Given the description of an element on the screen output the (x, y) to click on. 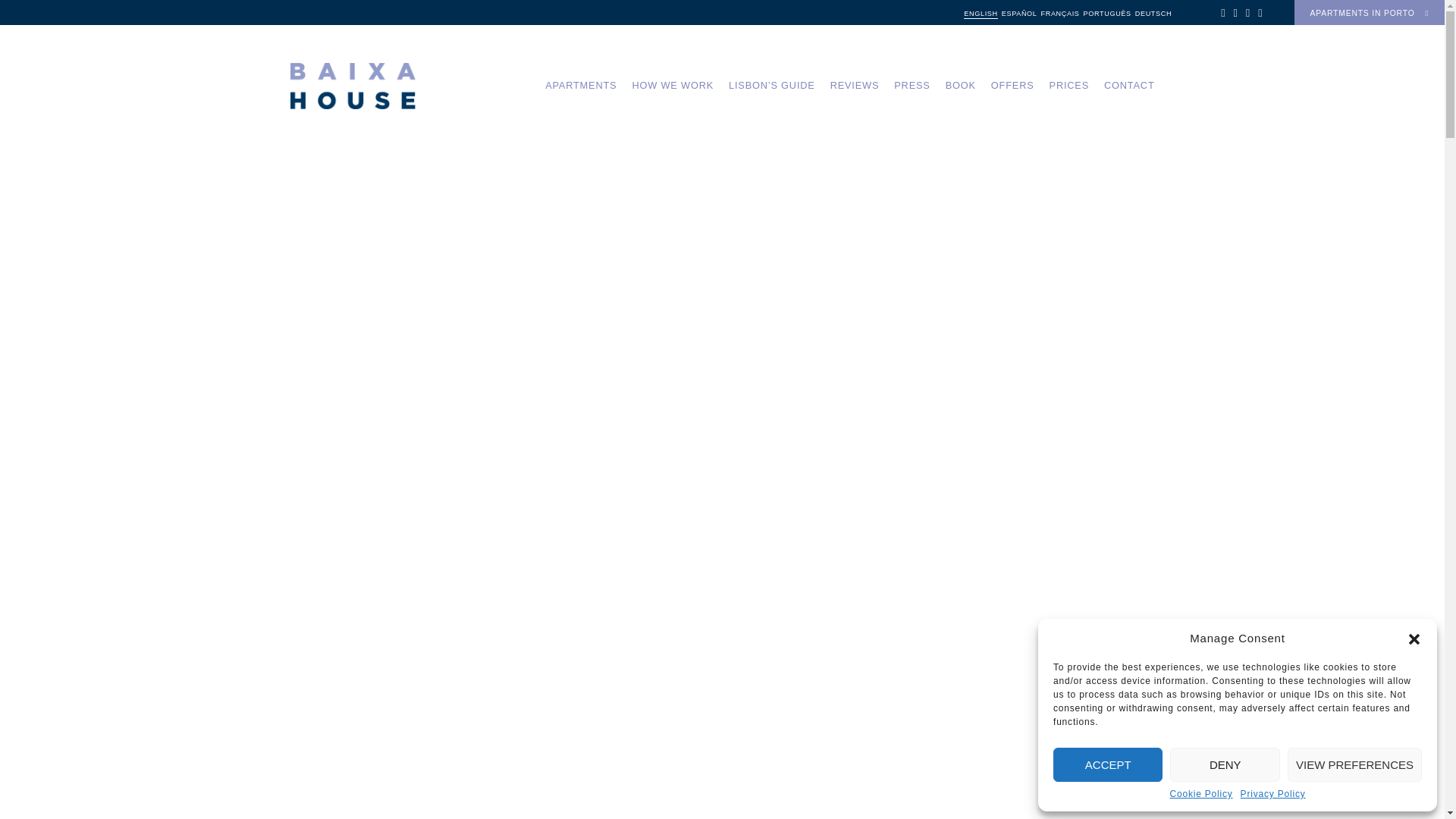
Privacy Policy (1273, 794)
APARTMENTS (579, 84)
ACCEPT (1106, 764)
DENY (1224, 764)
VIEW PREFERENCES (1354, 764)
DEUTSCH (1153, 13)
ENGLISH (980, 13)
Cookie Policy (1200, 794)
